Given the description of an element on the screen output the (x, y) to click on. 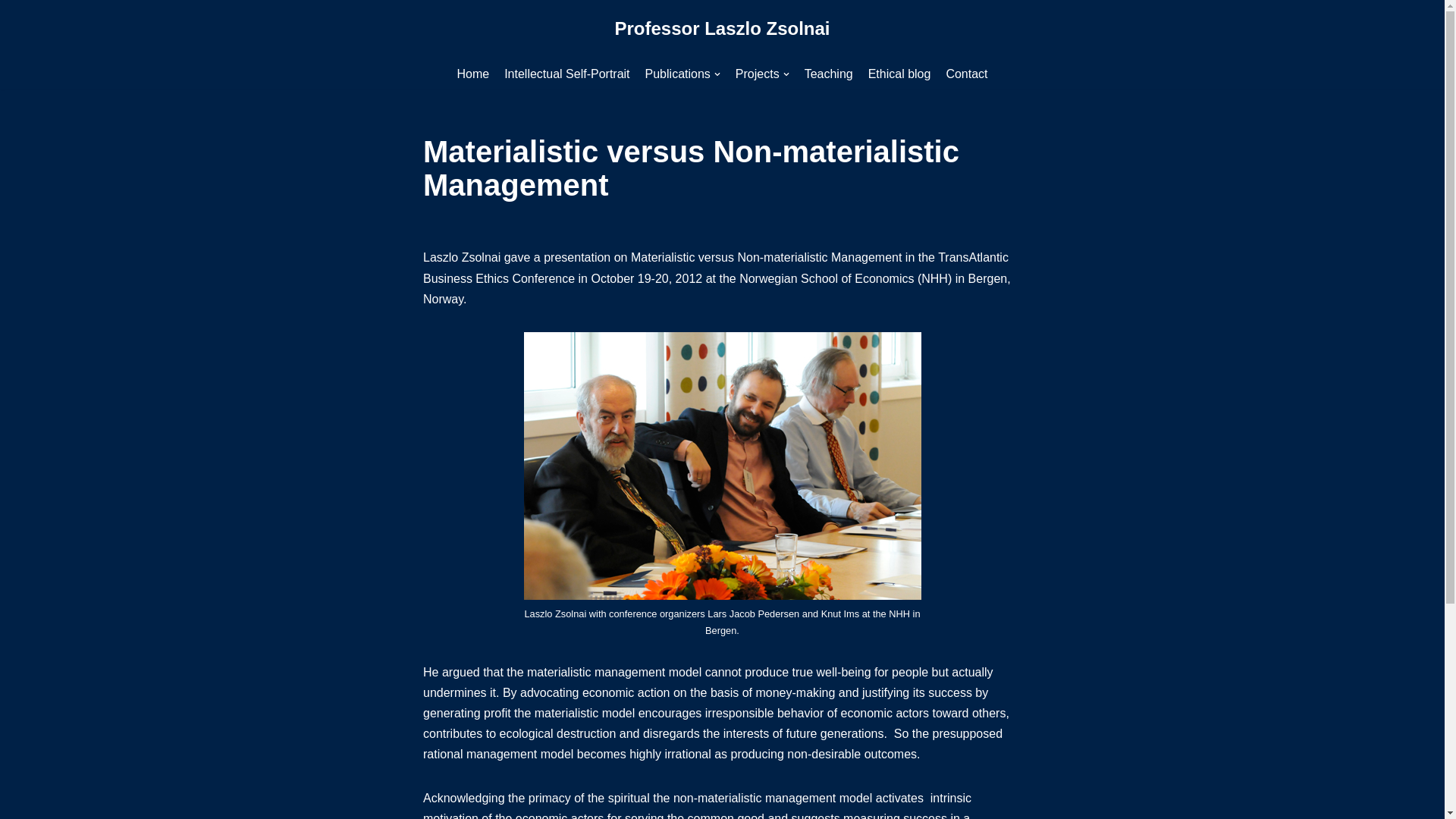
Publications (682, 74)
Professor Laszlo Zsolnai (721, 29)
Teaching (829, 74)
Intellectual Self-Portrait (565, 74)
Skip to content (11, 31)
Projects (762, 74)
Home (473, 74)
Contact (965, 74)
Ethical blog (899, 74)
Professor Laszlo Zsolnai (721, 29)
